Given the description of an element on the screen output the (x, y) to click on. 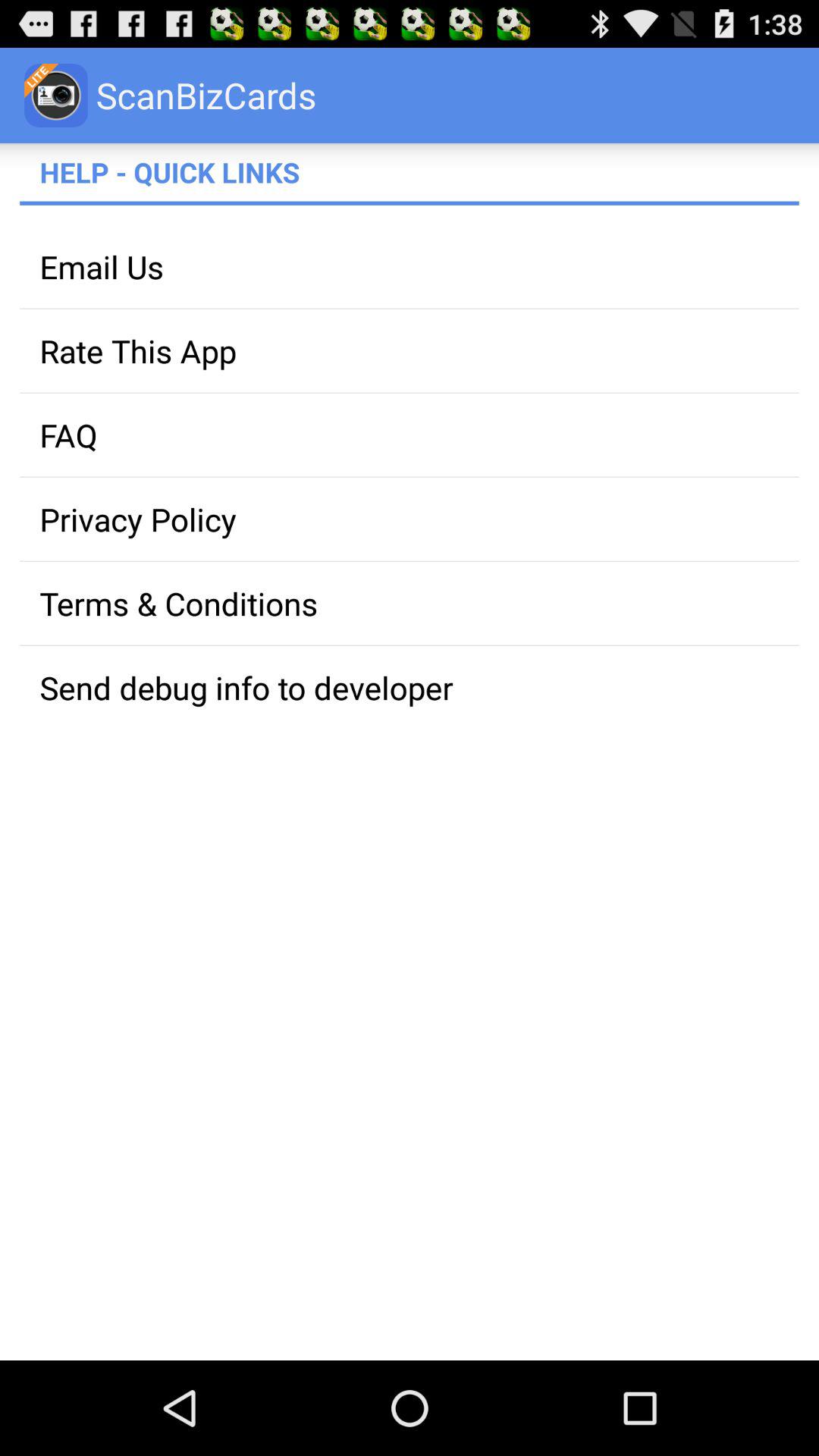
click app above faq icon (409, 350)
